Given the description of an element on the screen output the (x, y) to click on. 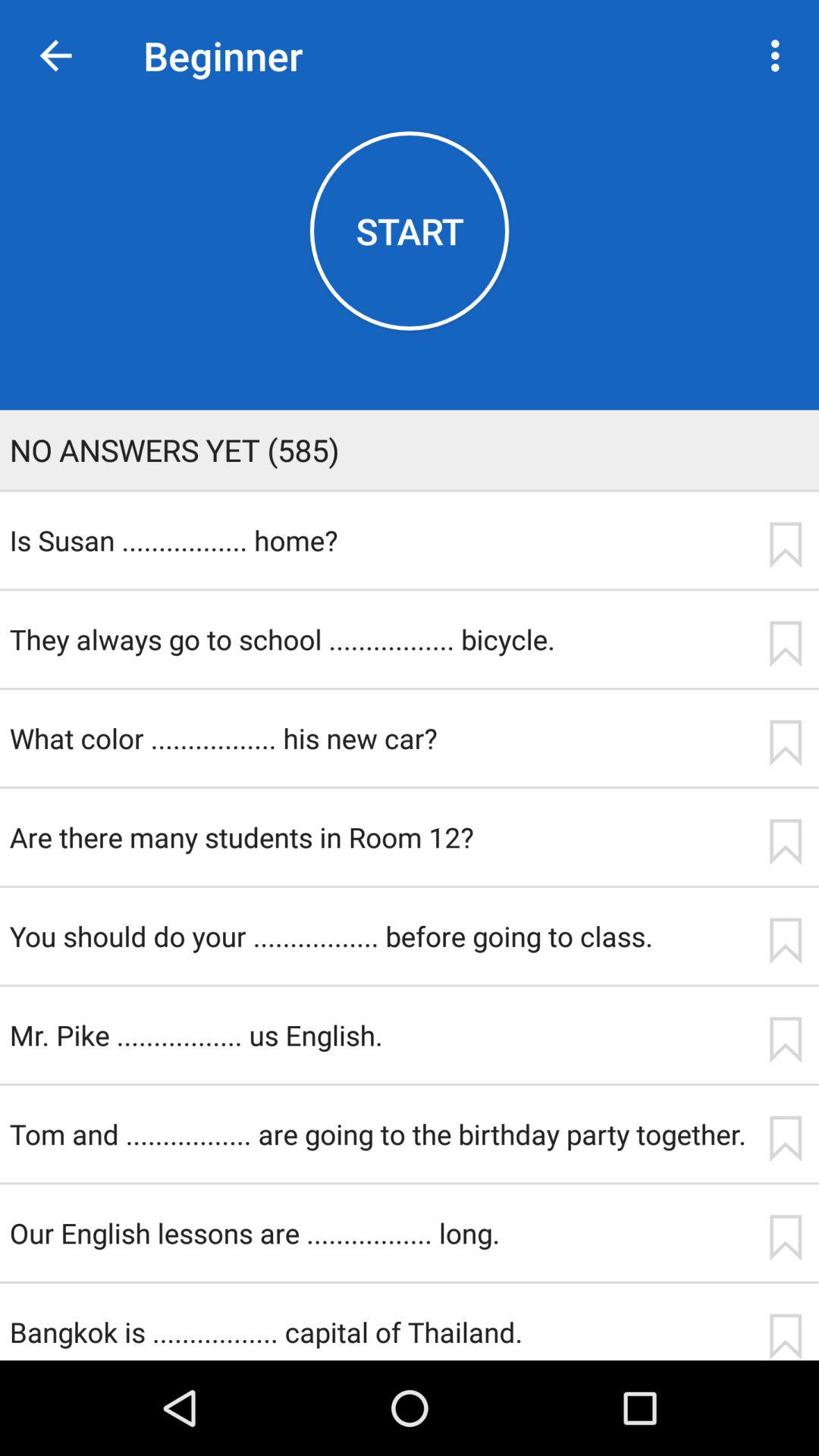
bookmark answer (784, 841)
